Given the description of an element on the screen output the (x, y) to click on. 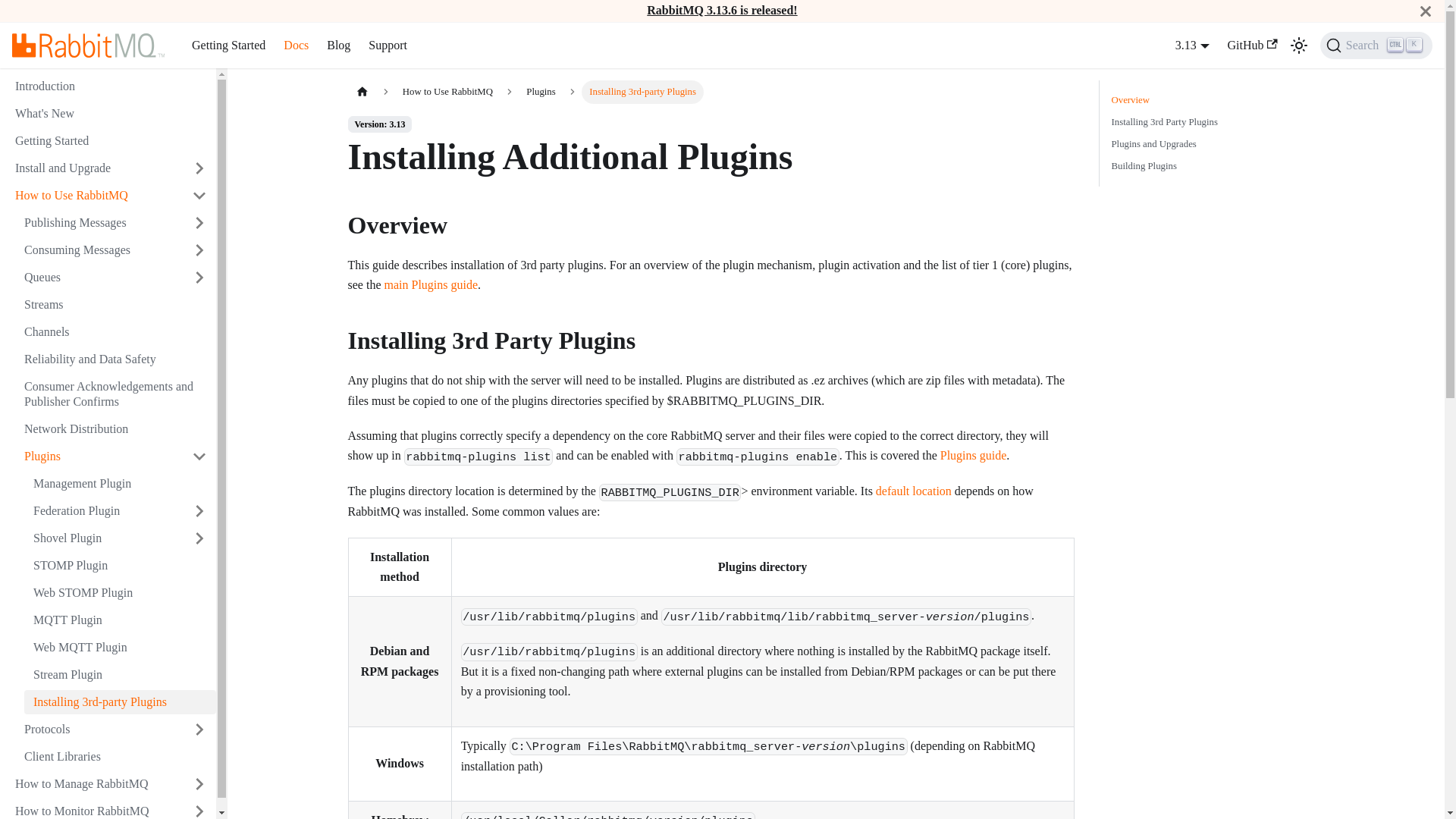
Reliability and Data Safety (114, 359)
3.13 (1191, 44)
Network Distribution (114, 428)
Docs (296, 45)
Getting Started (229, 45)
RabbitMQ 3.13.6 is released! (721, 10)
Streams (114, 304)
Federation Plugin (103, 510)
Channels (114, 331)
Consuming Messages (1376, 44)
Queues (98, 250)
Plugins (98, 277)
Publishing Messages (98, 456)
